Given the description of an element on the screen output the (x, y) to click on. 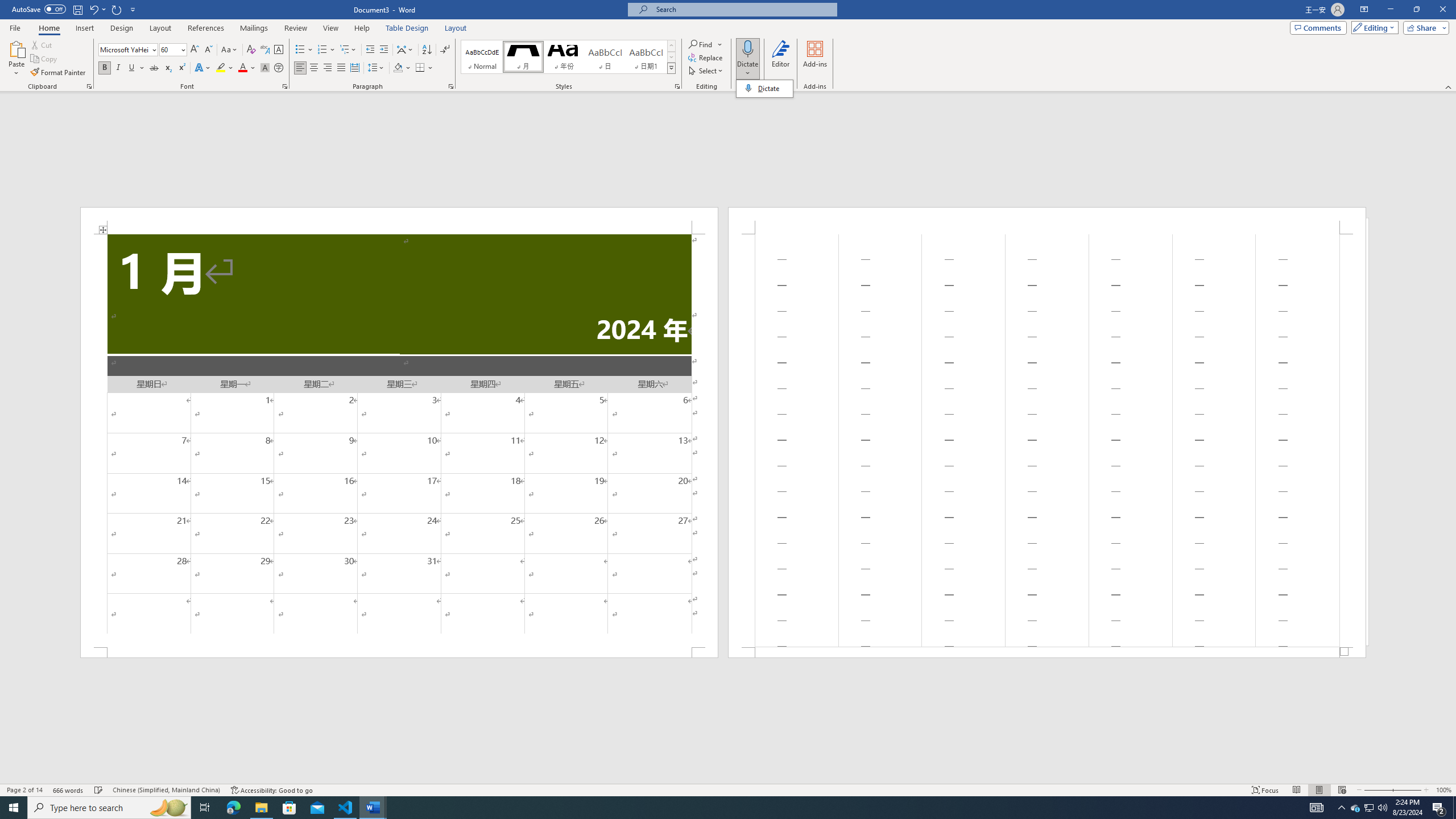
Cut (42, 44)
Paste (16, 58)
System (6, 6)
Replace... (705, 56)
Underline (136, 67)
Font Size (172, 49)
Subscript (167, 67)
Word - 2 running windows (373, 807)
Phonetic Guide... (264, 49)
Home (48, 28)
Table Design (407, 28)
